Given the description of an element on the screen output the (x, y) to click on. 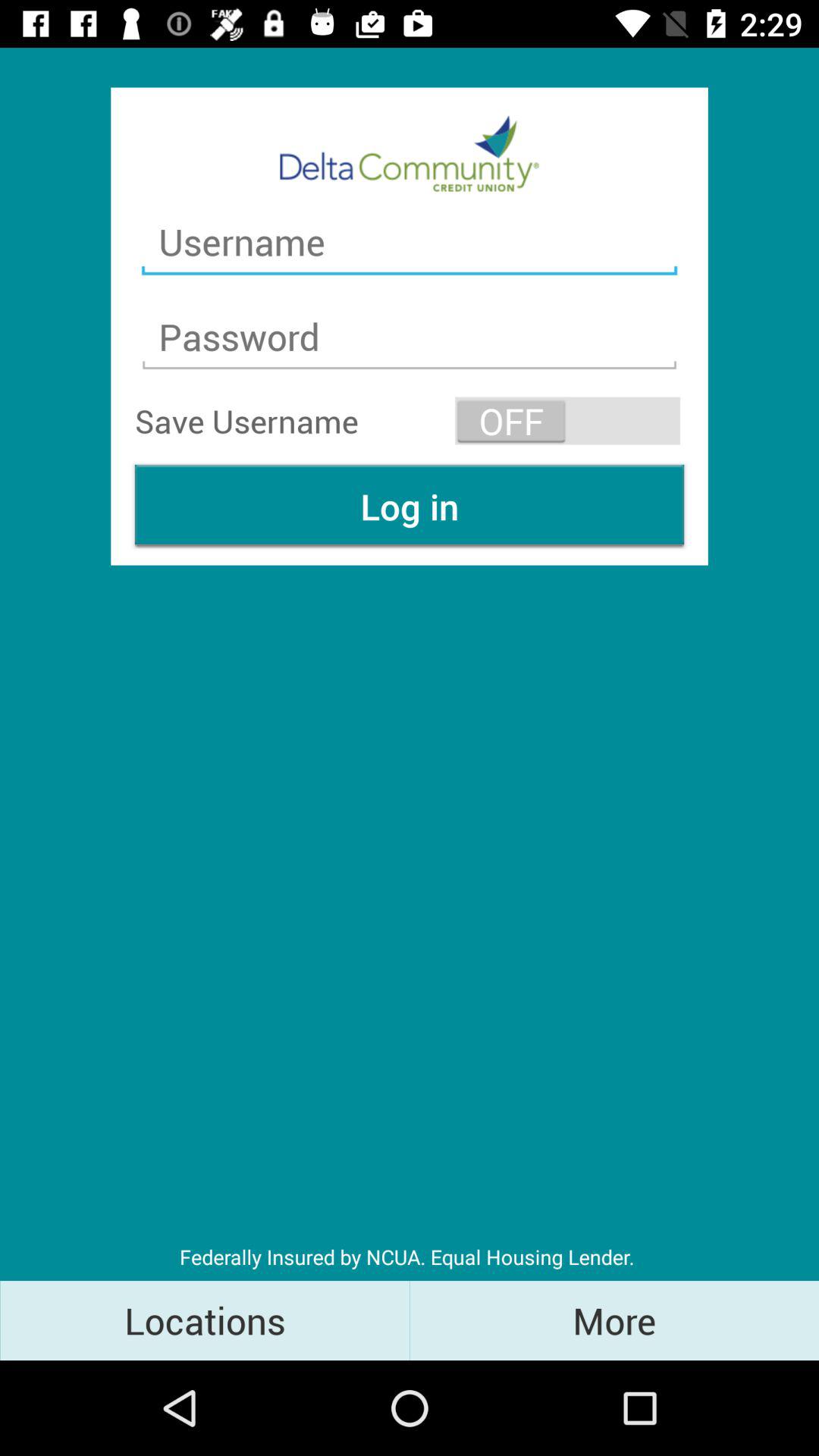
turn off the item below federally insured by icon (614, 1320)
